Given the description of an element on the screen output the (x, y) to click on. 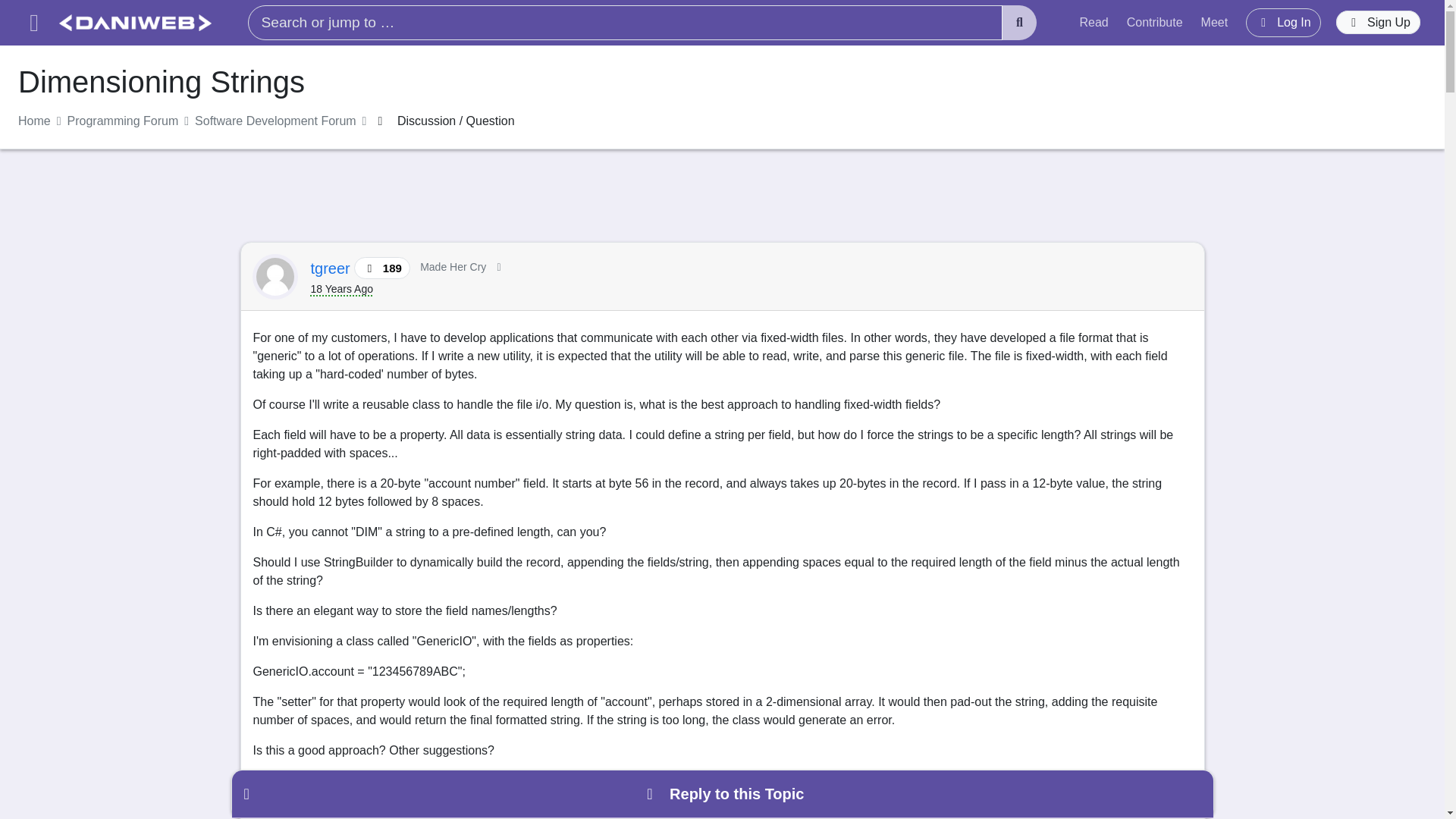
Search (1018, 22)
Programming Forum (122, 120)
DaniWeb (135, 22)
Read (1093, 22)
Meet (1214, 22)
Log In (1283, 22)
Menu (33, 22)
tgreer (333, 268)
Software Development Forum (275, 120)
Home (33, 120)
